Given the description of an element on the screen output the (x, y) to click on. 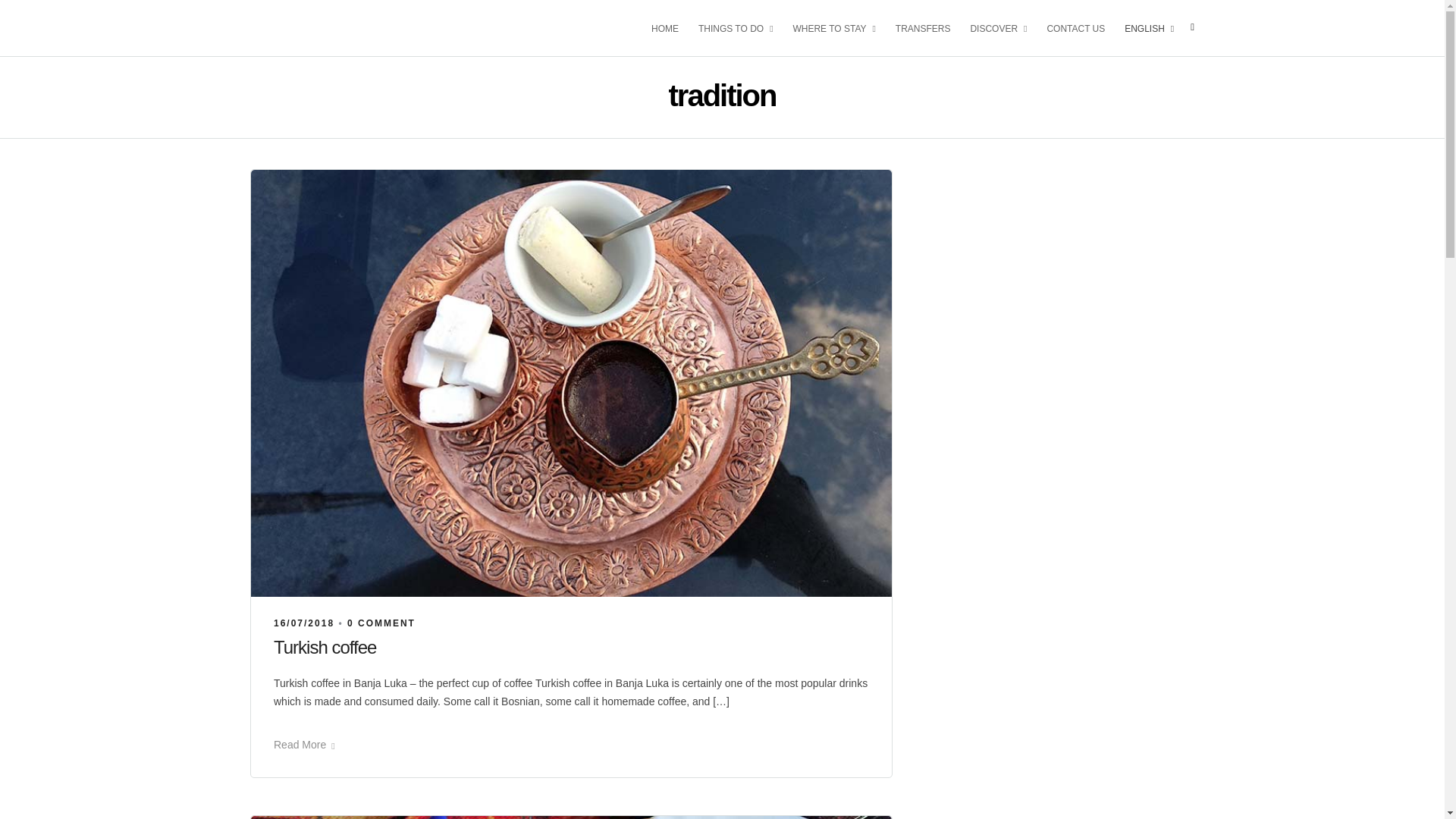
Turkish coffee (324, 647)
Turkish coffee (303, 623)
HOME (670, 27)
THINGS TO DO (742, 27)
